Given the description of an element on the screen output the (x, y) to click on. 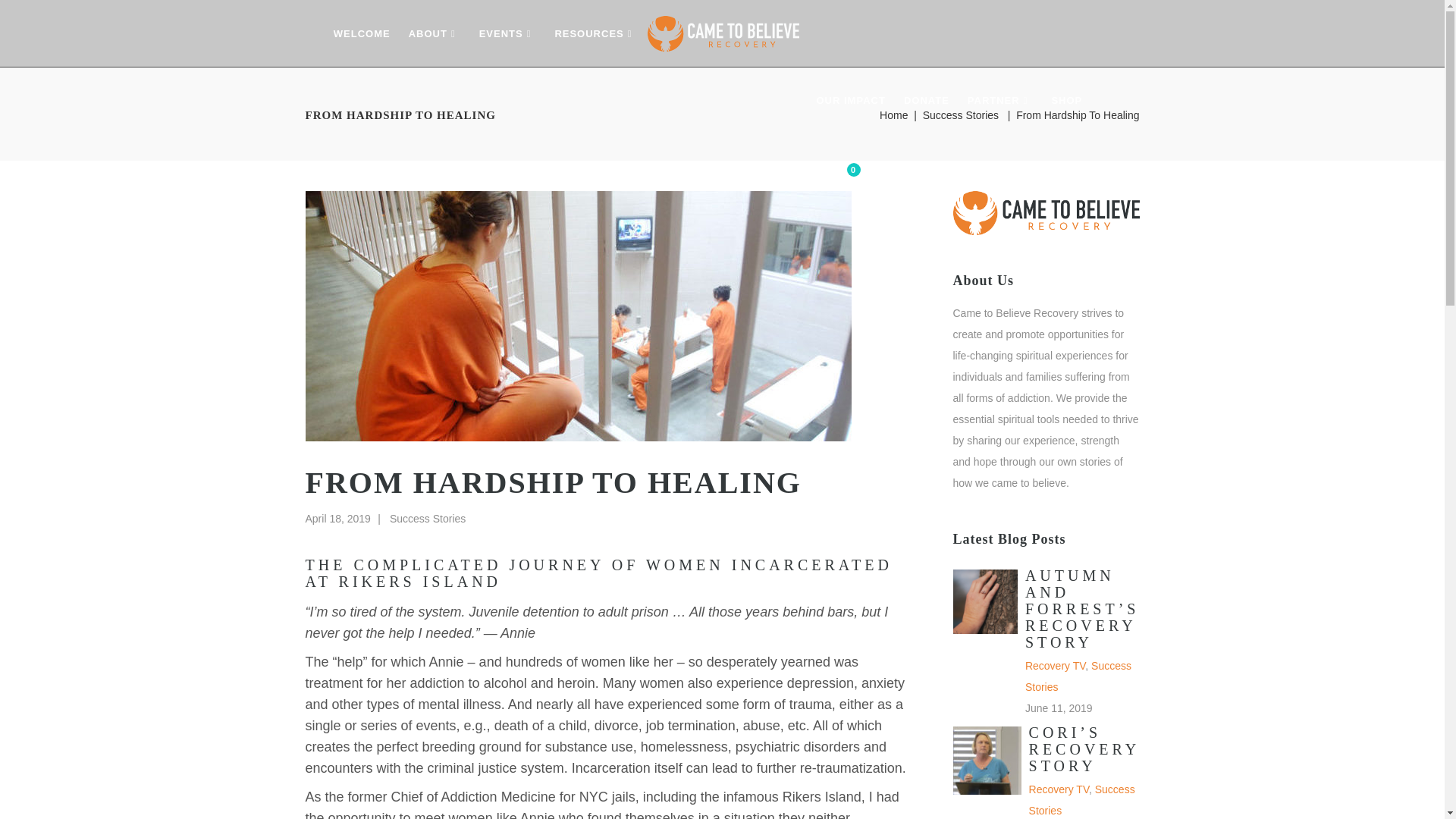
DONATE (926, 99)
WELCOME (361, 33)
RESOURCES (595, 33)
OUR IMPACT (849, 99)
EVENTS (508, 33)
ABOUT (434, 33)
PARTNER (834, 175)
